Given the description of an element on the screen output the (x, y) to click on. 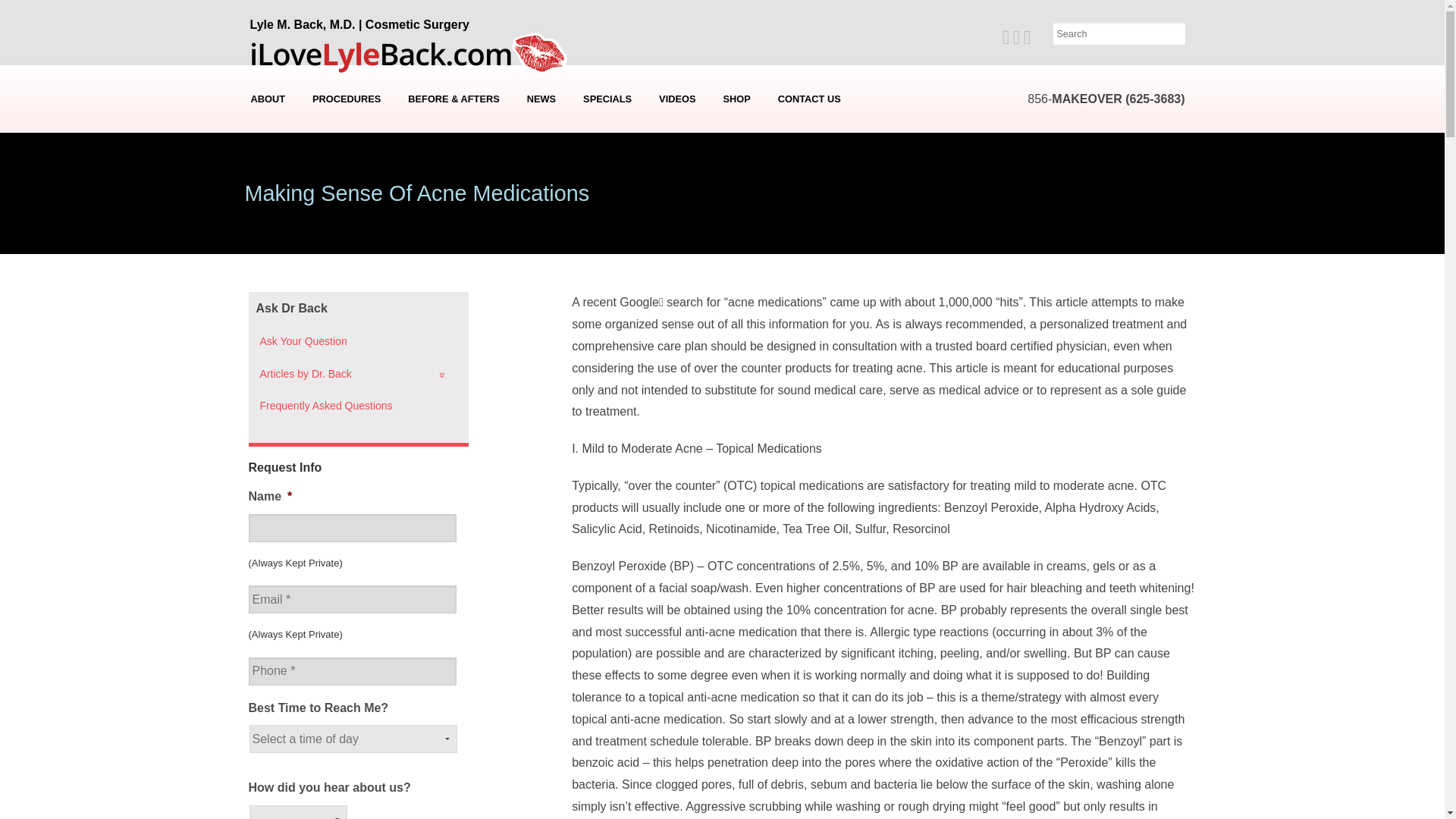
TESTIMONIALS (268, 151)
HYDRAFACIAL SYNDEO (346, 128)
NEWS (541, 98)
MEN (346, 220)
CONTACT US (809, 98)
BODY (346, 174)
Listen to Dr Back talk about common questions from patients (676, 98)
COSMETIC SURGERY CENTER (268, 174)
IN THE NEWS (543, 128)
Cosmetic surgery and skin care services (346, 98)
COSMETIC SKIN CARE SPECIALISTS (268, 197)
SPECIALS (607, 98)
VIDEOS (676, 98)
SHOP (736, 98)
About Cosmetic Skin Care Specialists of Cherry Hill (268, 197)
